Given the description of an element on the screen output the (x, y) to click on. 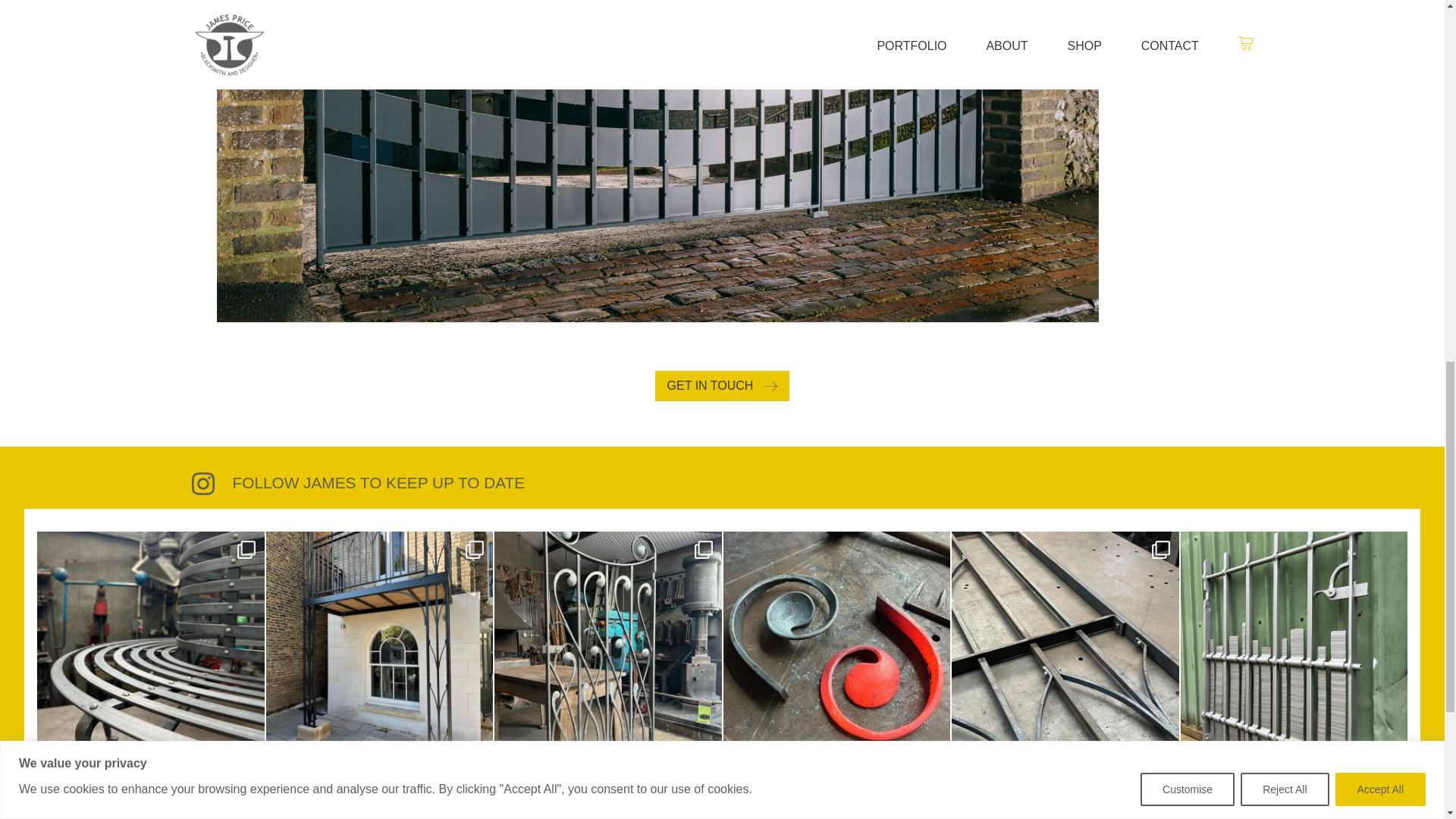
GET IN TOUCH (722, 386)
FOLLOW JAMES TO KEEP UP TO DATE (721, 483)
